Given the description of an element on the screen output the (x, y) to click on. 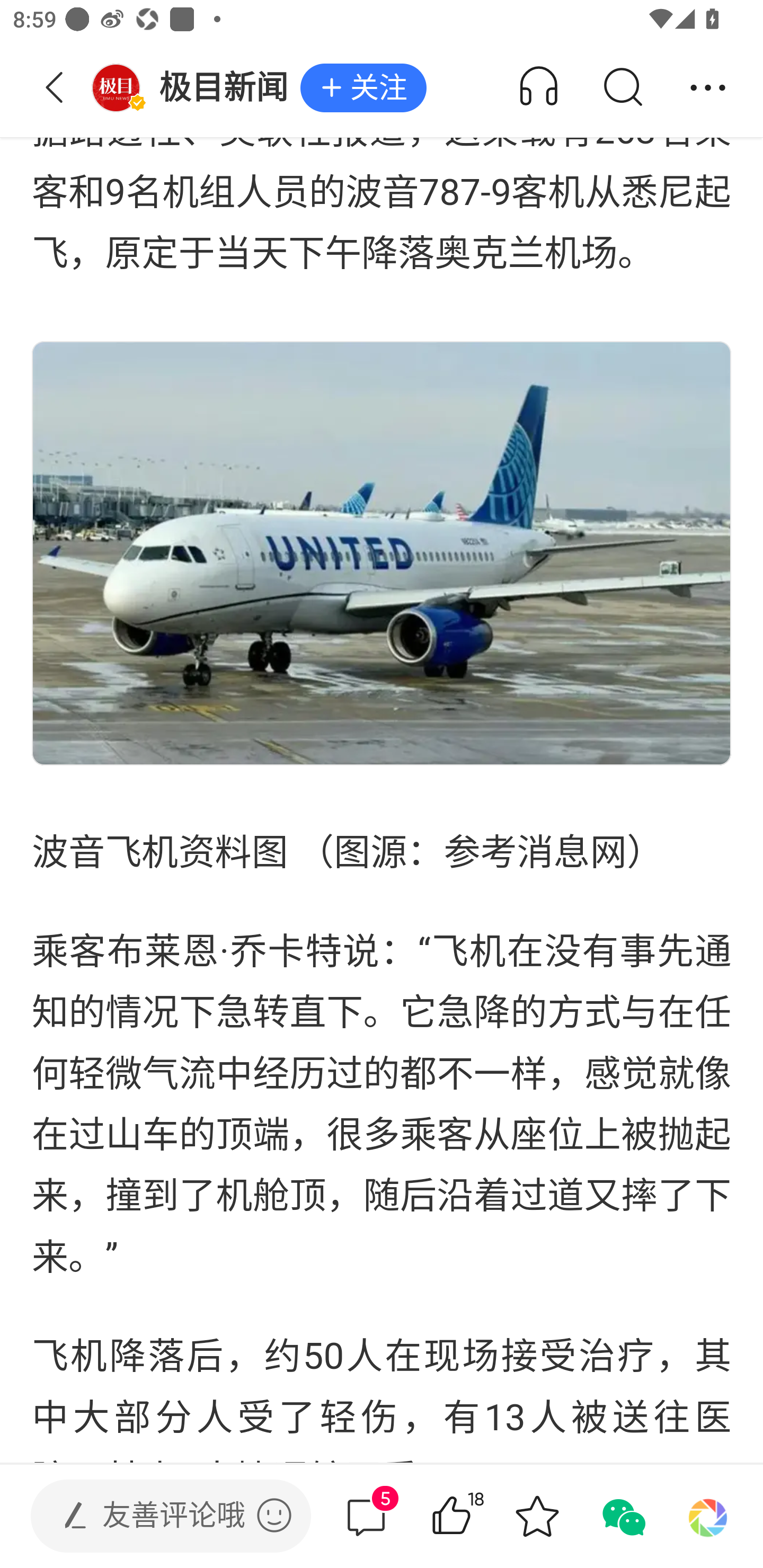
极目新闻 (195, 87)
搜索  (622, 87)
分享  (707, 87)
 返回 (54, 87)
 关注 (363, 88)
新闻图片 (381, 553)
发表评论  友善评论哦 发表评论  (155, 1516)
5评论  5 评论 (365, 1516)
18赞 (476, 1516)
收藏  (536, 1516)
分享到微信  (622, 1516)
分享到朋友圈 (707, 1516)
 (274, 1515)
